Given the description of an element on the screen output the (x, y) to click on. 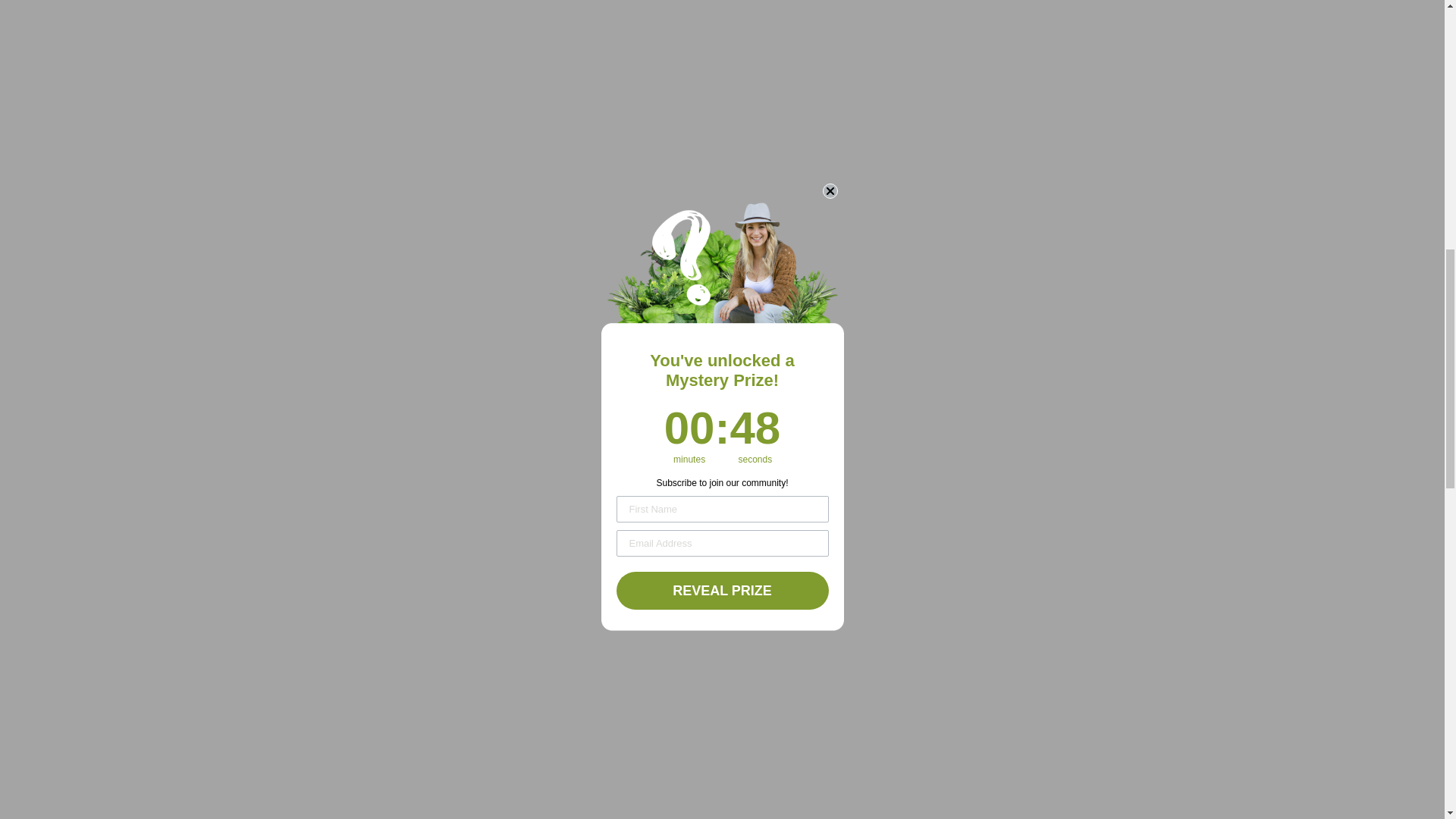
Pin on Pinterest (476, 432)
Share on Facebook (403, 432)
